Given the description of an element on the screen output the (x, y) to click on. 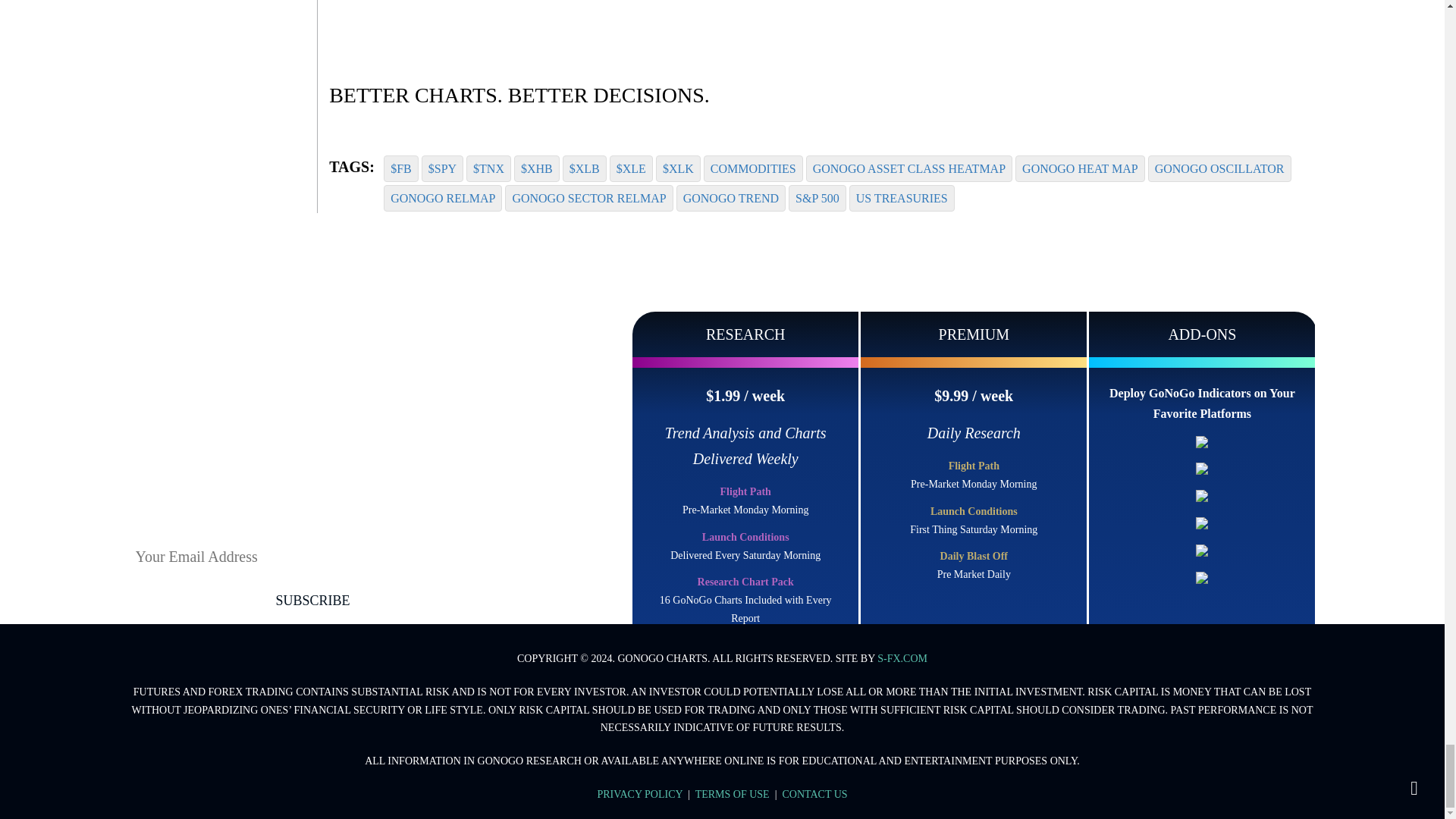
CONTACT US (814, 794)
TERMS OF USE (732, 794)
PRIVACY POLICY (639, 794)
S-FX.COM (902, 658)
SUBSCRIBE (313, 600)
